Given the description of an element on the screen output the (x, y) to click on. 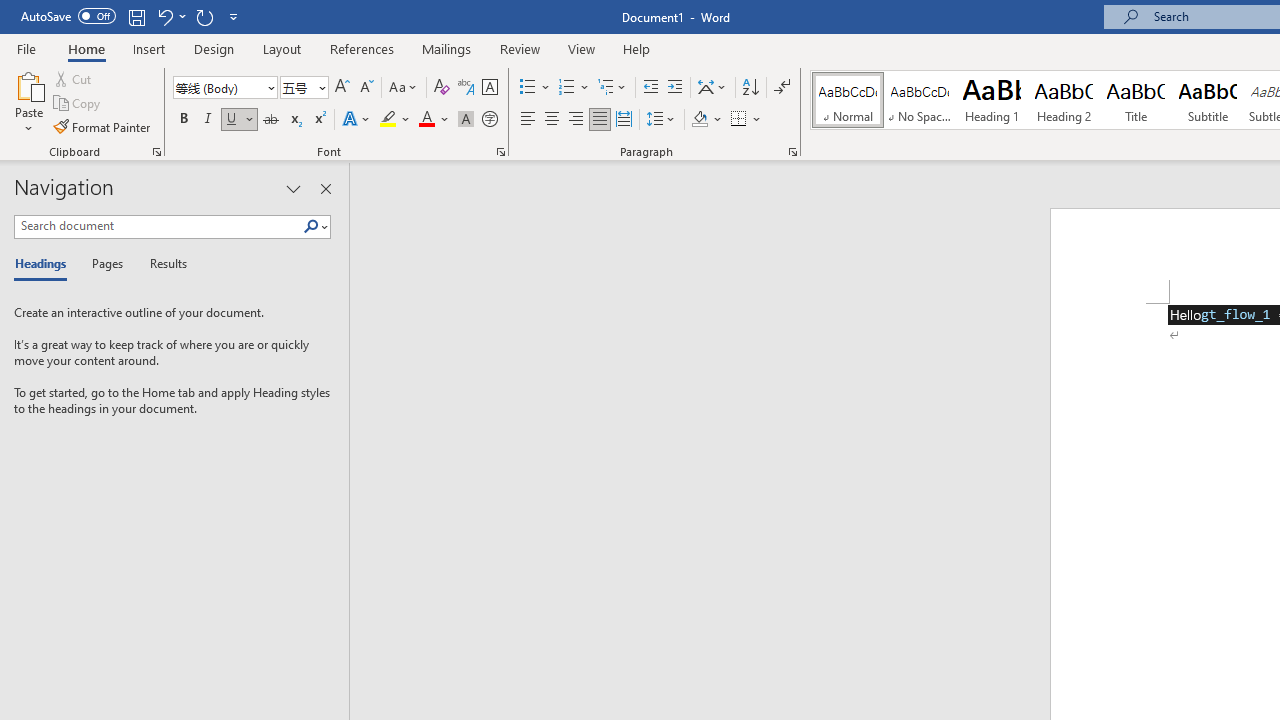
Subtitle (1208, 100)
Grow Font (342, 87)
Office Clipboard... (156, 151)
Undo Underline Style (164, 15)
Heading 1 (991, 100)
Text Highlight Color Yellow (388, 119)
Sort... (750, 87)
